Given the description of an element on the screen output the (x, y) to click on. 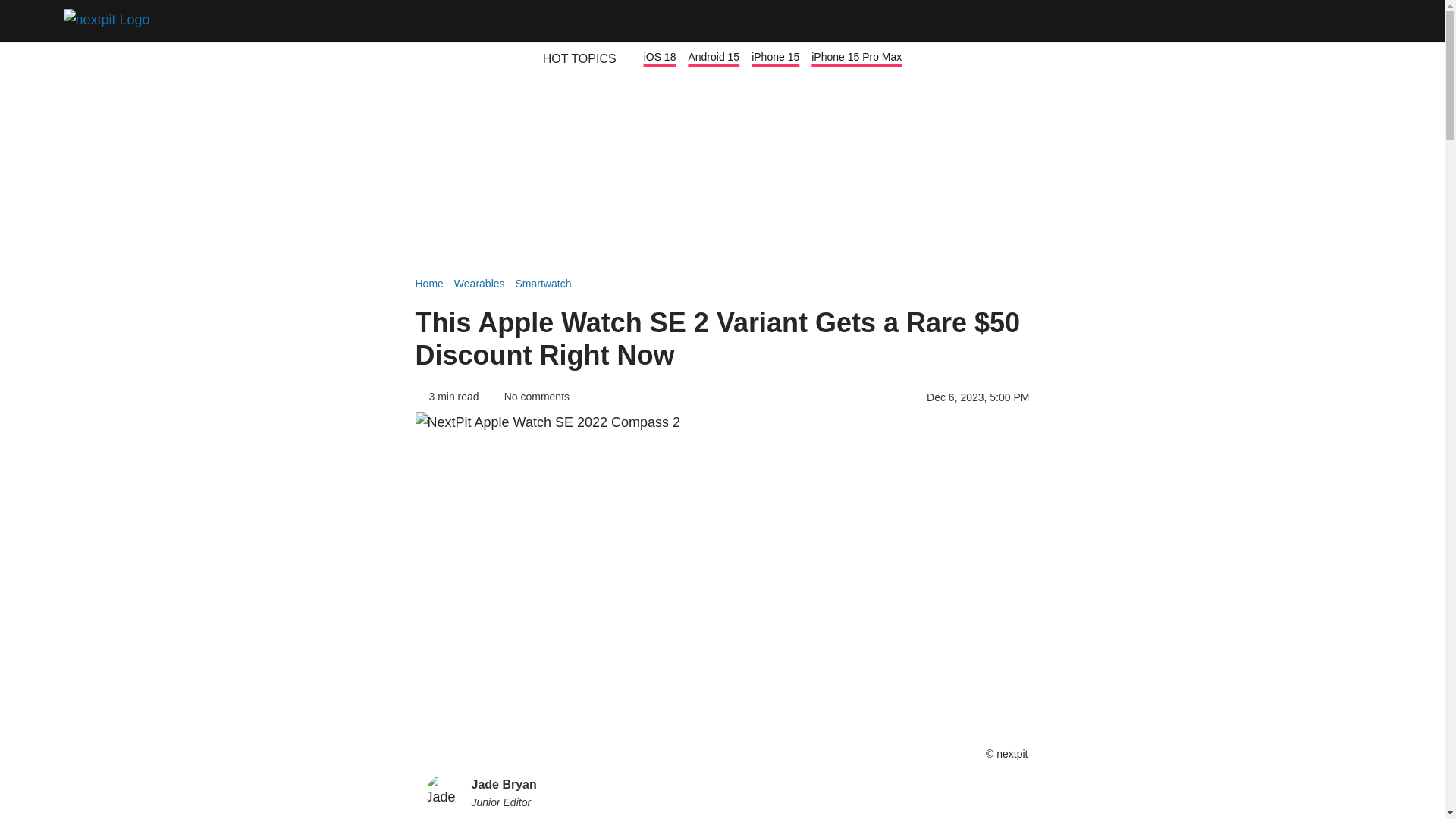
Dec 6, 2023, 5:00:00 PM (977, 397)
3 min read (446, 396)
To the nextpit homepage (110, 21)
Login (1321, 21)
